Given the description of an element on the screen output the (x, y) to click on. 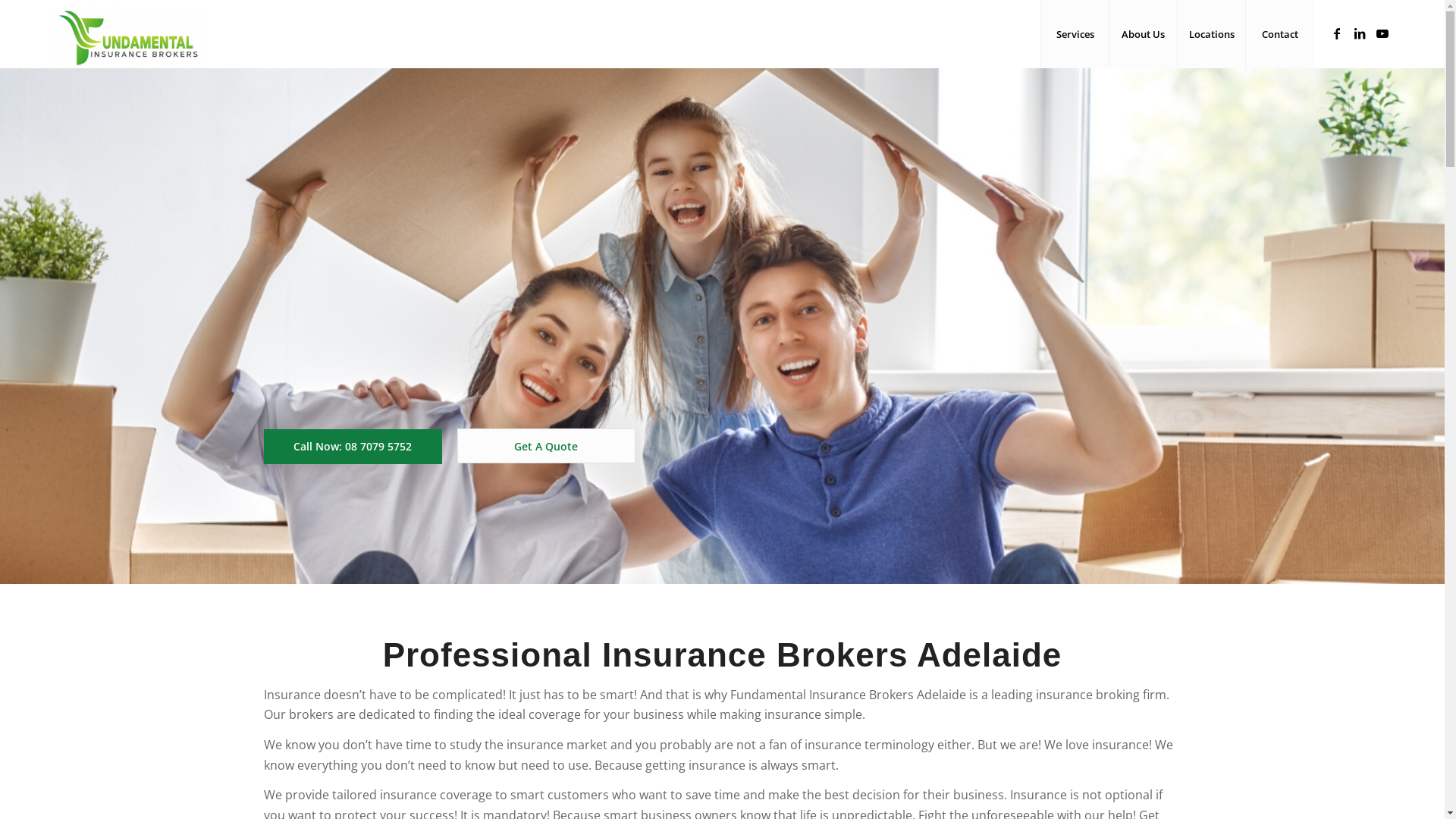
About Us Element type: text (1142, 34)
Facebook Element type: hover (1336, 32)
Services Element type: text (1074, 34)
Untitled-design-2_3f06f4778b5f5f52893a894c70fc8767 Element type: hover (722, 325)
LinkedIn Element type: hover (1359, 32)
Get A Quote Element type: text (545, 445)
Locations Element type: text (1210, 34)
Contact Element type: text (1279, 34)
Youtube Element type: hover (1382, 32)
Call Now: 08 7079 5752 Element type: text (352, 446)
